Given the description of an element on the screen output the (x, y) to click on. 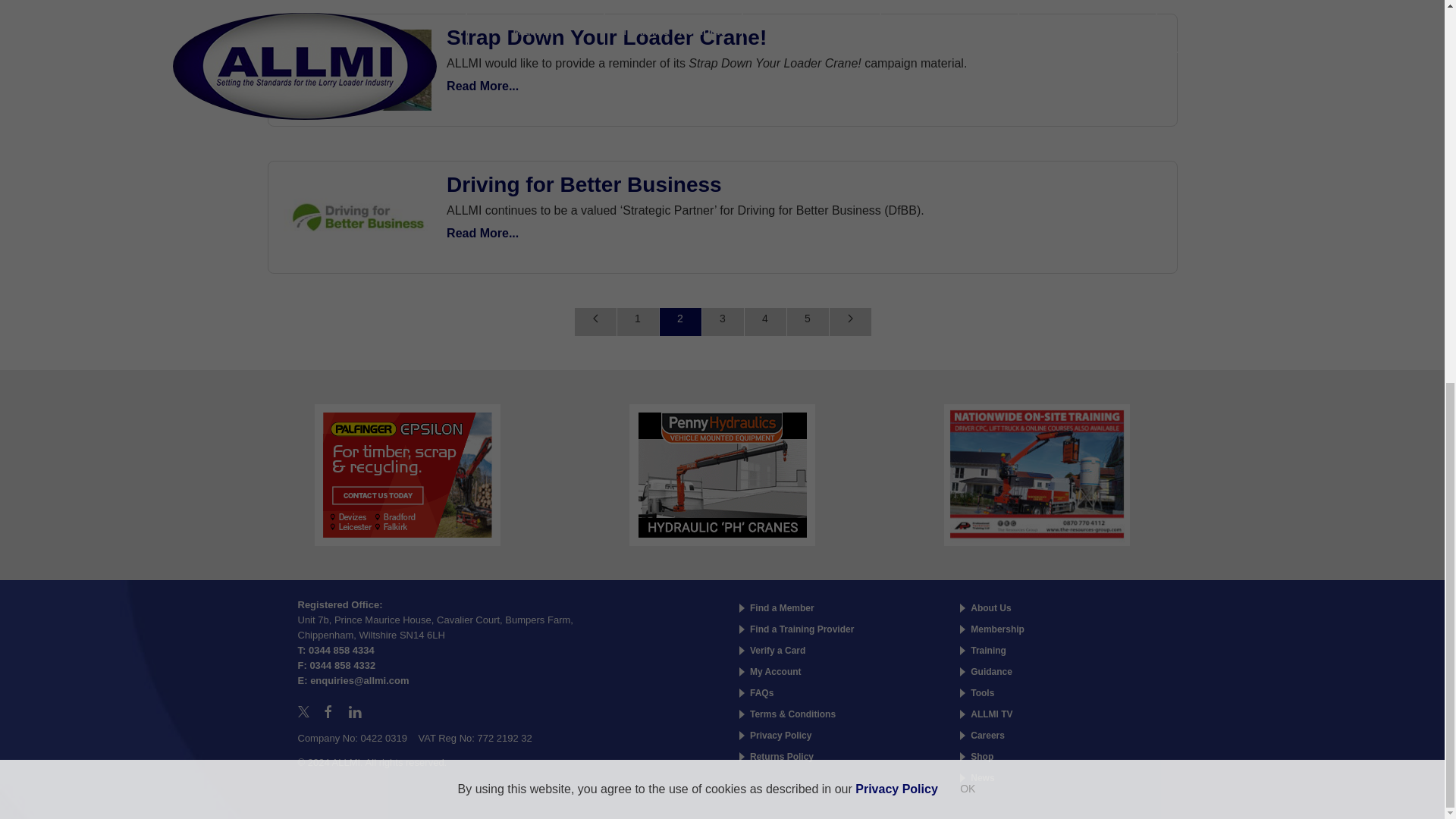
Penny Hydraulics Banner 1 (721, 472)
Prev (594, 321)
The Resources Group (1036, 473)
Next (849, 321)
